Given the description of an element on the screen output the (x, y) to click on. 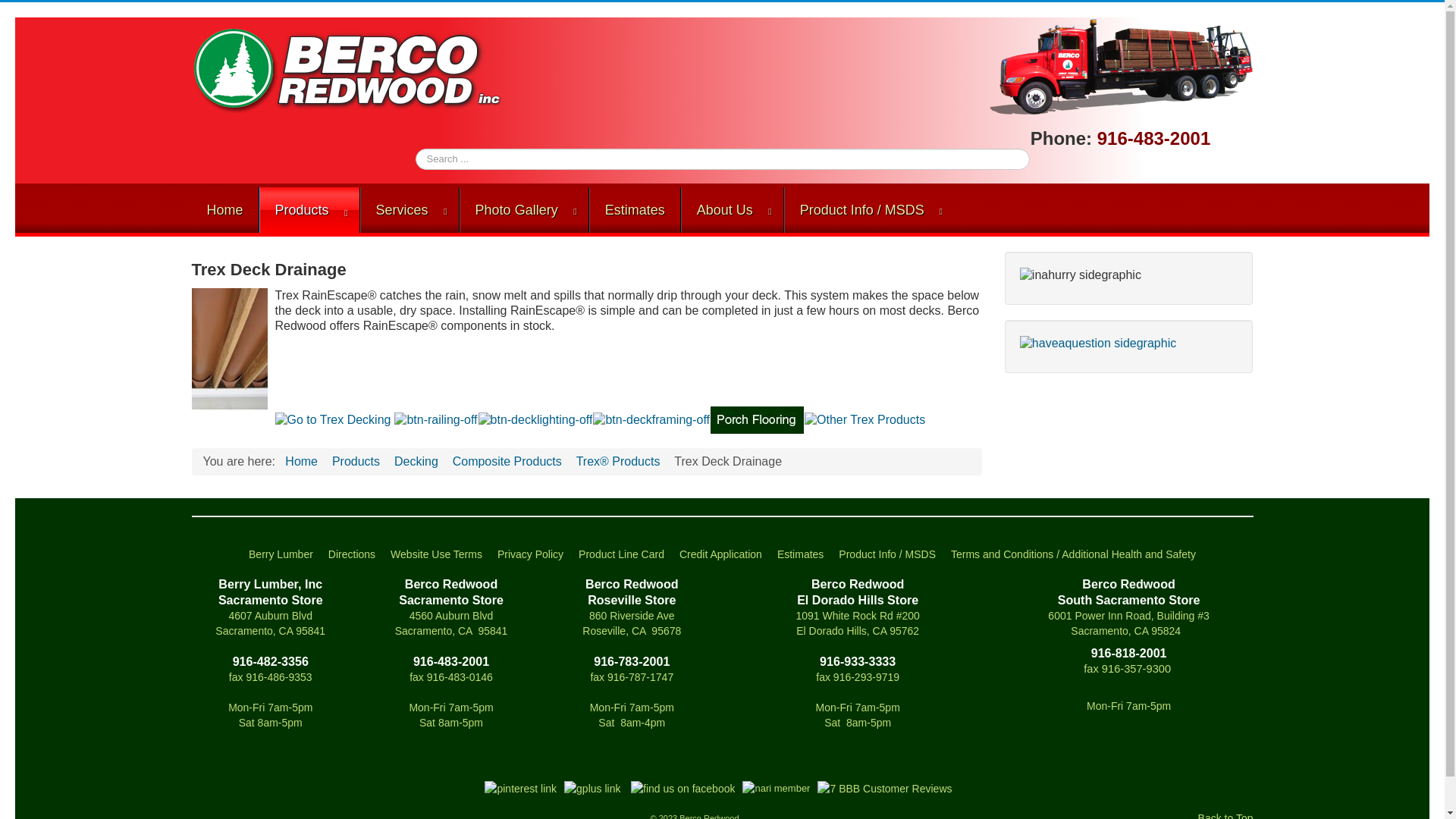
Home (224, 209)
Berry Lumber, Inc. BBB Customer Reviews (887, 791)
Products (309, 209)
916-483-2001 (1153, 137)
